Given the description of an element on the screen output the (x, y) to click on. 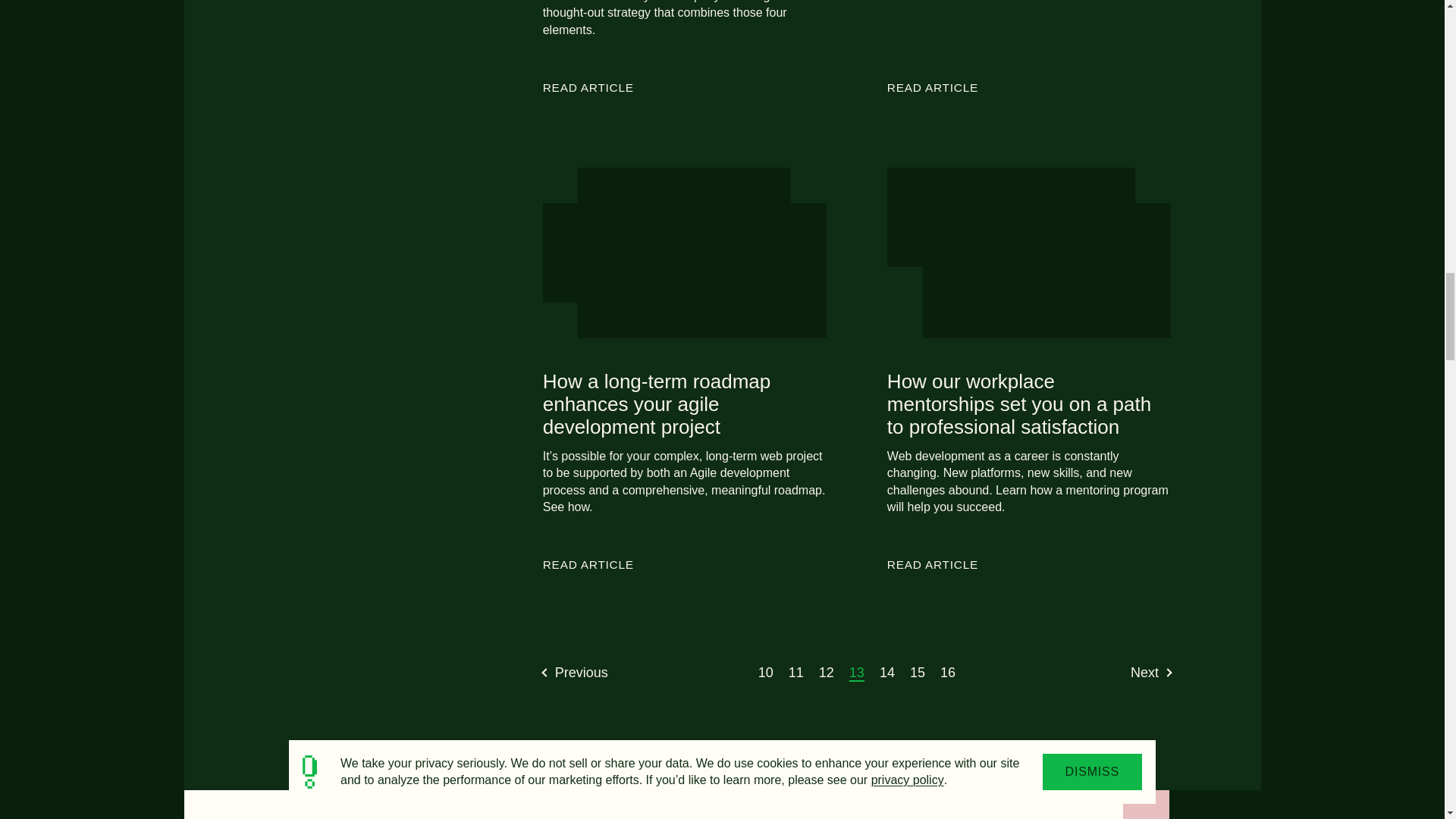
Previous (575, 671)
